Given the description of an element on the screen output the (x, y) to click on. 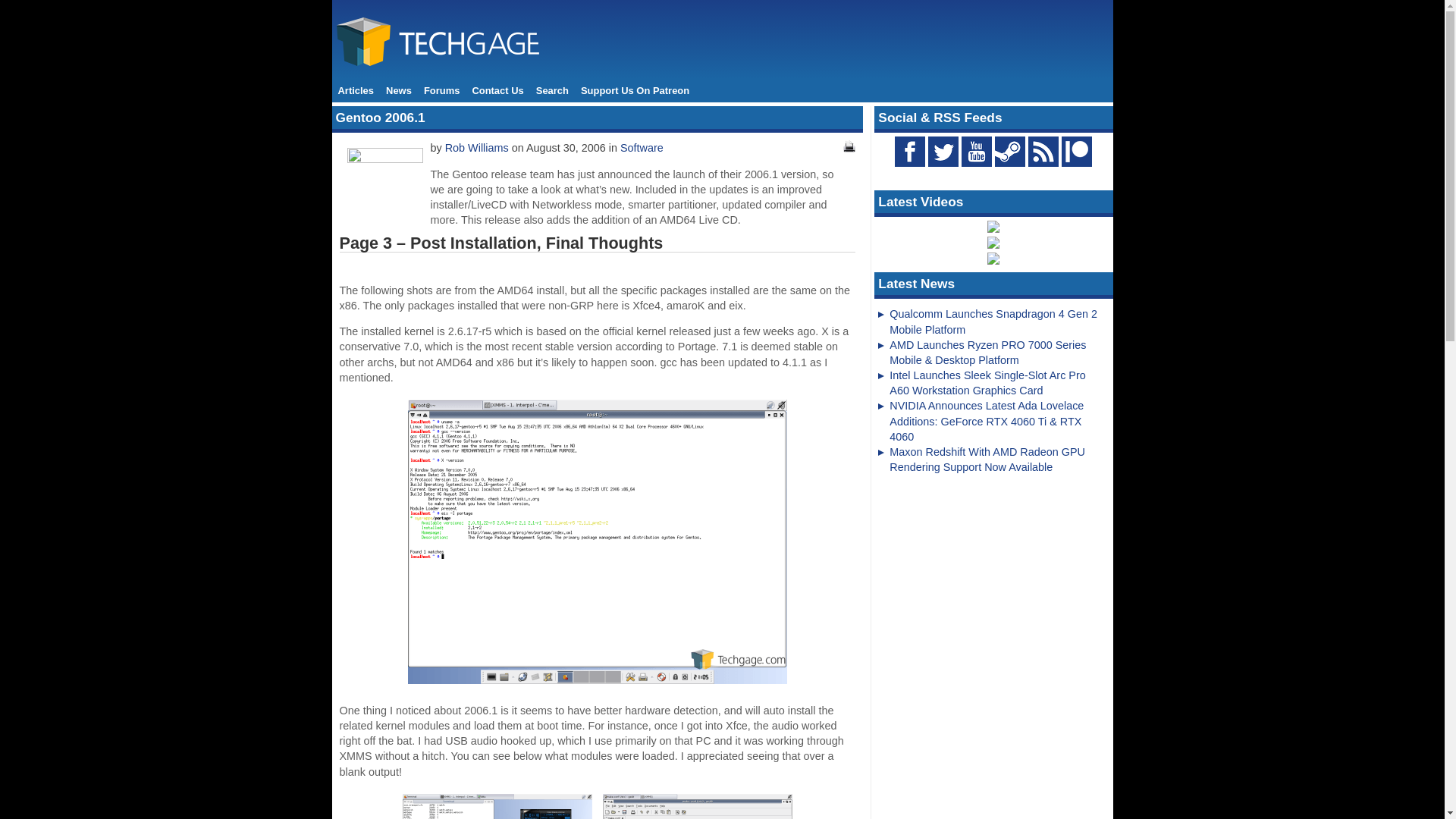
Forums (441, 90)
Follow Techgage on Twitter! (943, 151)
Print (849, 146)
News (398, 90)
Support Techgage on Patreon! (1076, 162)
Qualcomm Launches Snapdragon 4 Gen 2 Mobile Platform (993, 320)
Forums (441, 90)
Follow Techgage on YouTube! (975, 151)
News (398, 90)
Follow Techgage on Facebook! (909, 151)
Articles (355, 90)
Support Us On Patreon (635, 90)
Follow Techgage on Steam! (1009, 151)
Qualcomm Launches Snapdragon 4 Gen 2 Mobile Platform (993, 320)
